Given the description of an element on the screen output the (x, y) to click on. 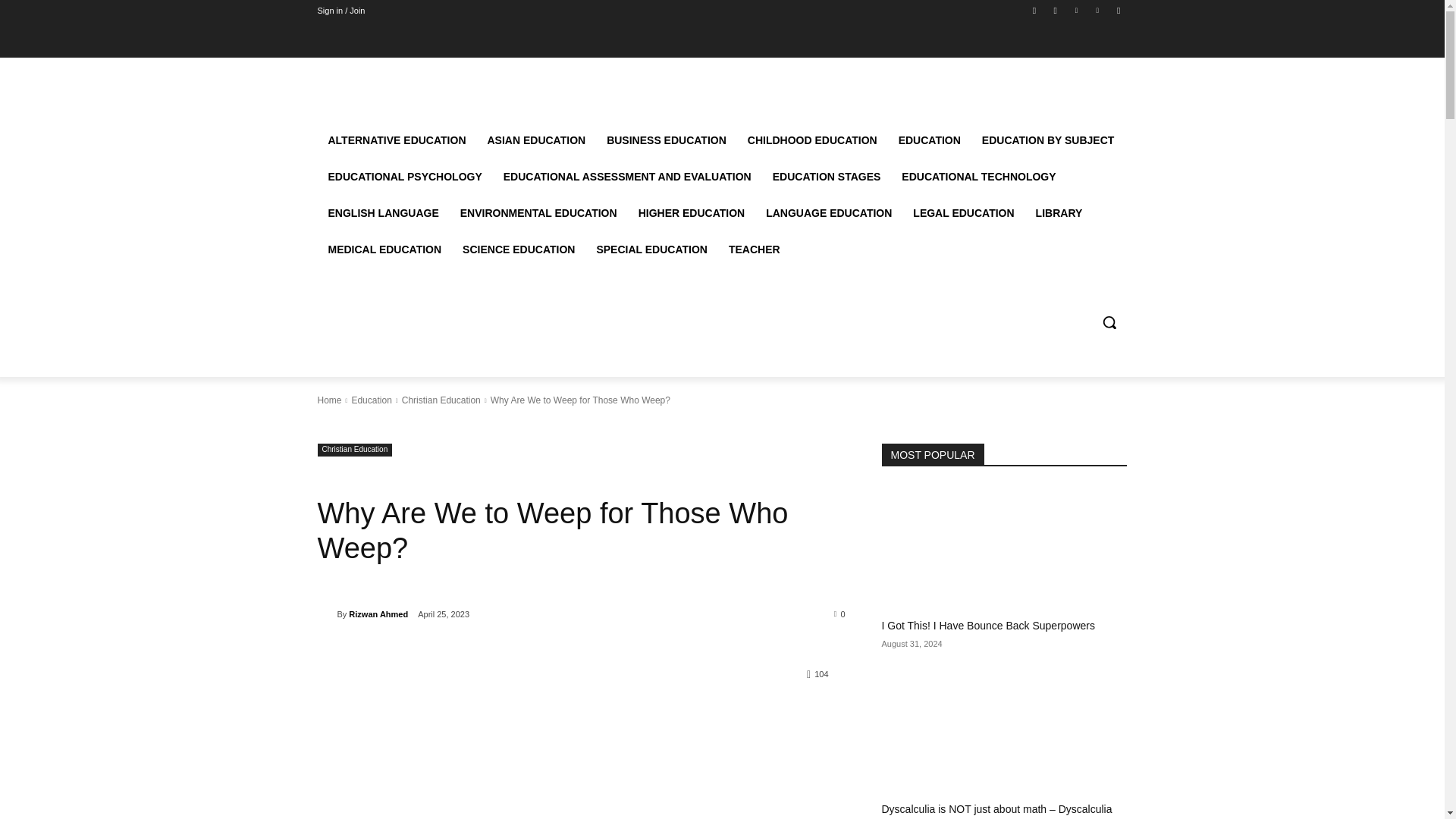
Facebook (1034, 9)
Instagram (1055, 9)
View all posts in Education (370, 399)
Rizwan Ahmed (326, 613)
Twitter (1075, 9)
Vimeo (1097, 9)
Youtube (1117, 9)
View all posts in Christian Education (440, 399)
